Given the description of an element on the screen output the (x, y) to click on. 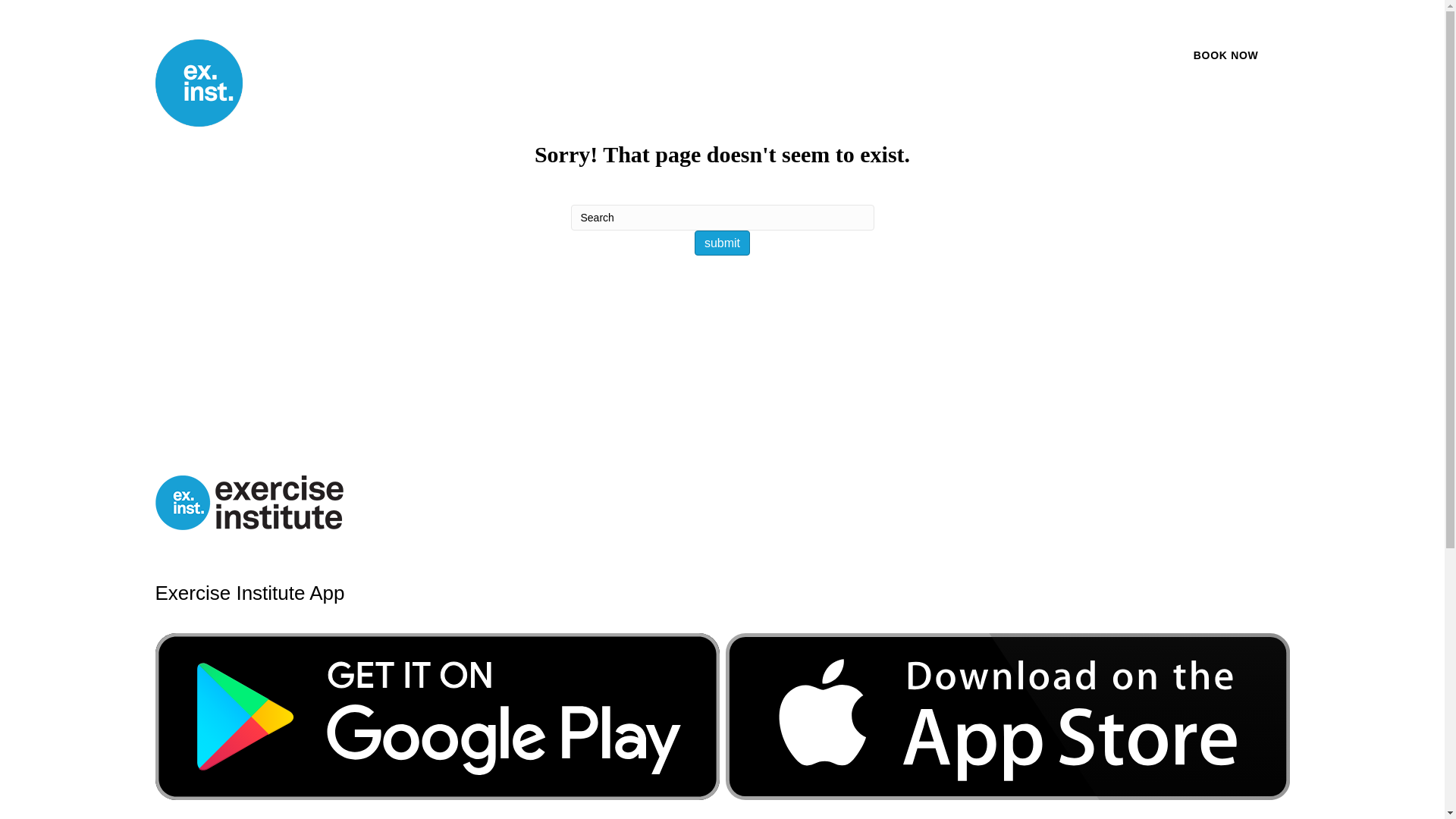
Type and press Enter to search. Element type: hover (721, 229)
submit Element type: text (721, 242)
SERVICES Element type: text (835, 55)
HOME Element type: text (729, 55)
OUR TEAM Element type: text (958, 55)
CONTACT Element type: text (1079, 55)
BOOK NOW Element type: text (1225, 55)
